Given the description of an element on the screen output the (x, y) to click on. 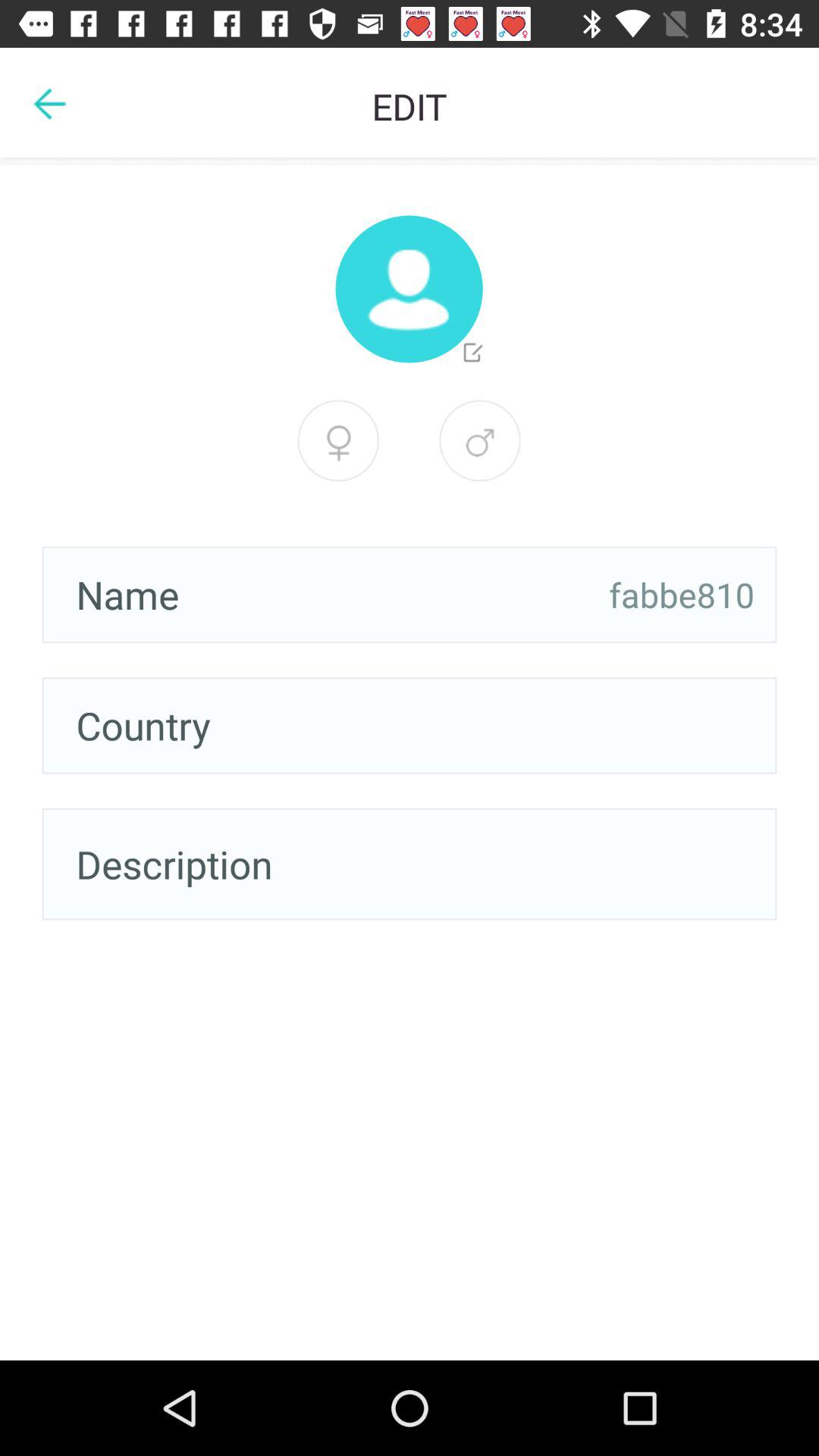
select male (479, 440)
